Given the description of an element on the screen output the (x, y) to click on. 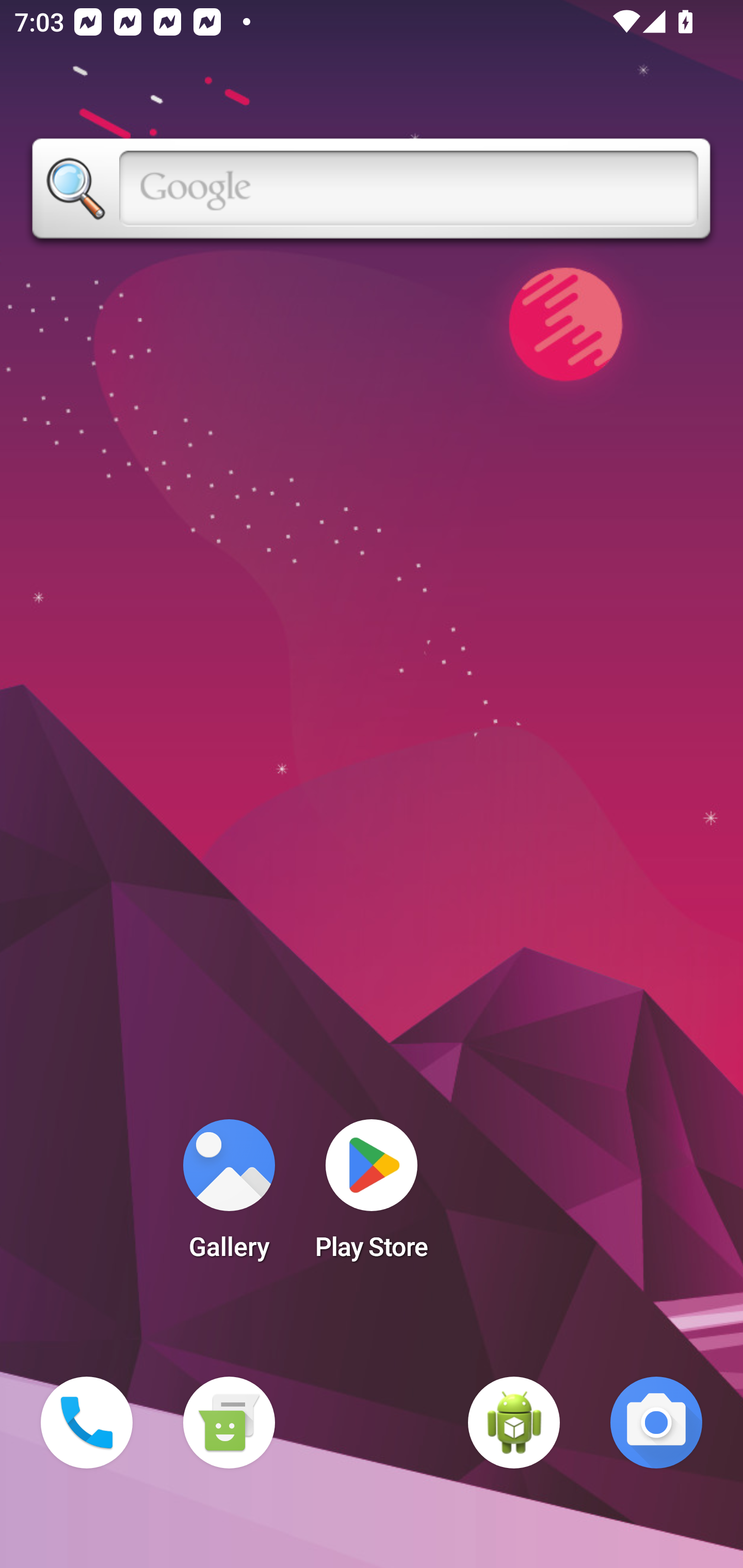
Gallery (228, 1195)
Play Store (371, 1195)
Phone (86, 1422)
Messaging (228, 1422)
WebView Browser Tester (513, 1422)
Camera (656, 1422)
